Given the description of an element on the screen output the (x, y) to click on. 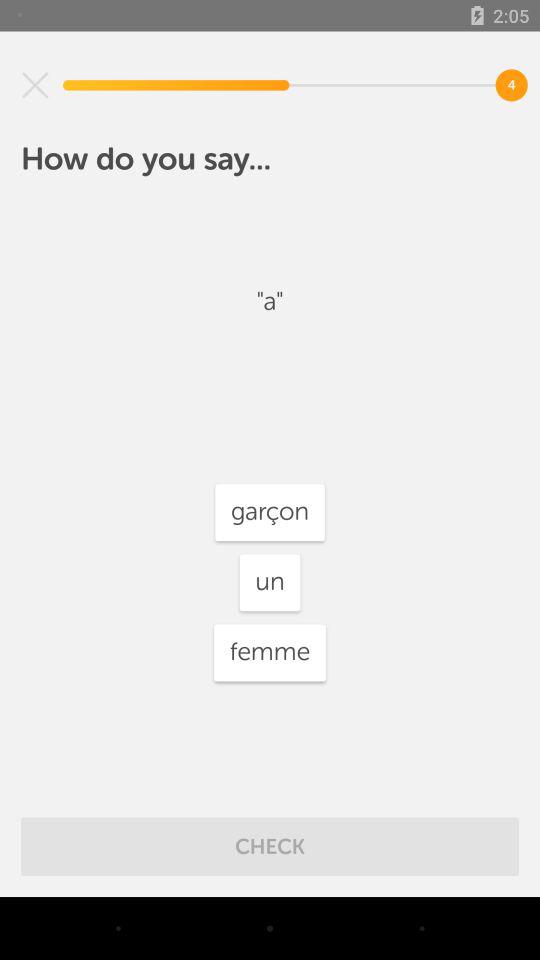
click the item above un icon (269, 512)
